Given the description of an element on the screen output the (x, y) to click on. 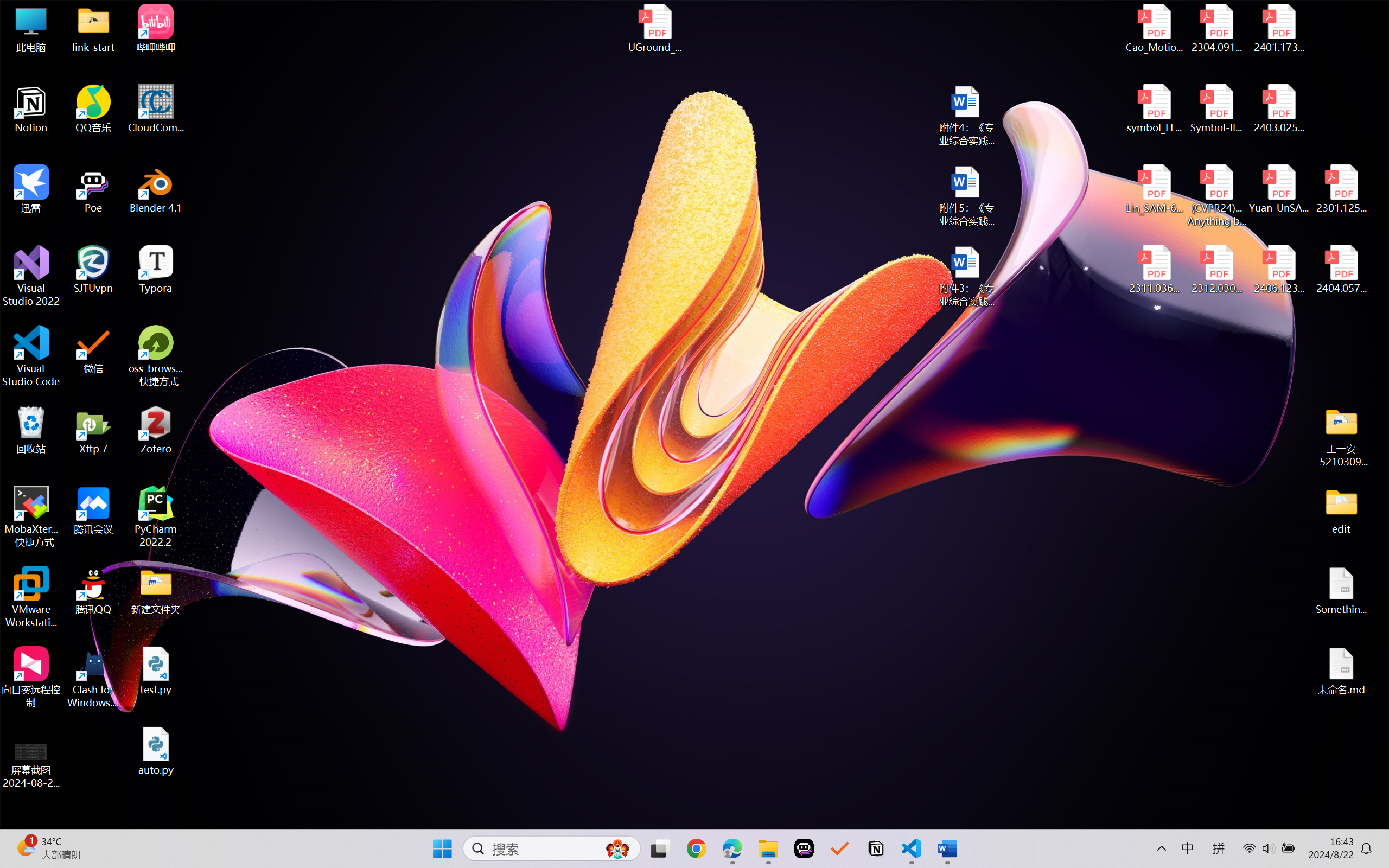
2312.03032v2.pdf (1216, 269)
CloudCompare (156, 109)
2406.12373v2.pdf (1278, 269)
Typora (156, 269)
